Given the description of an element on the screen output the (x, y) to click on. 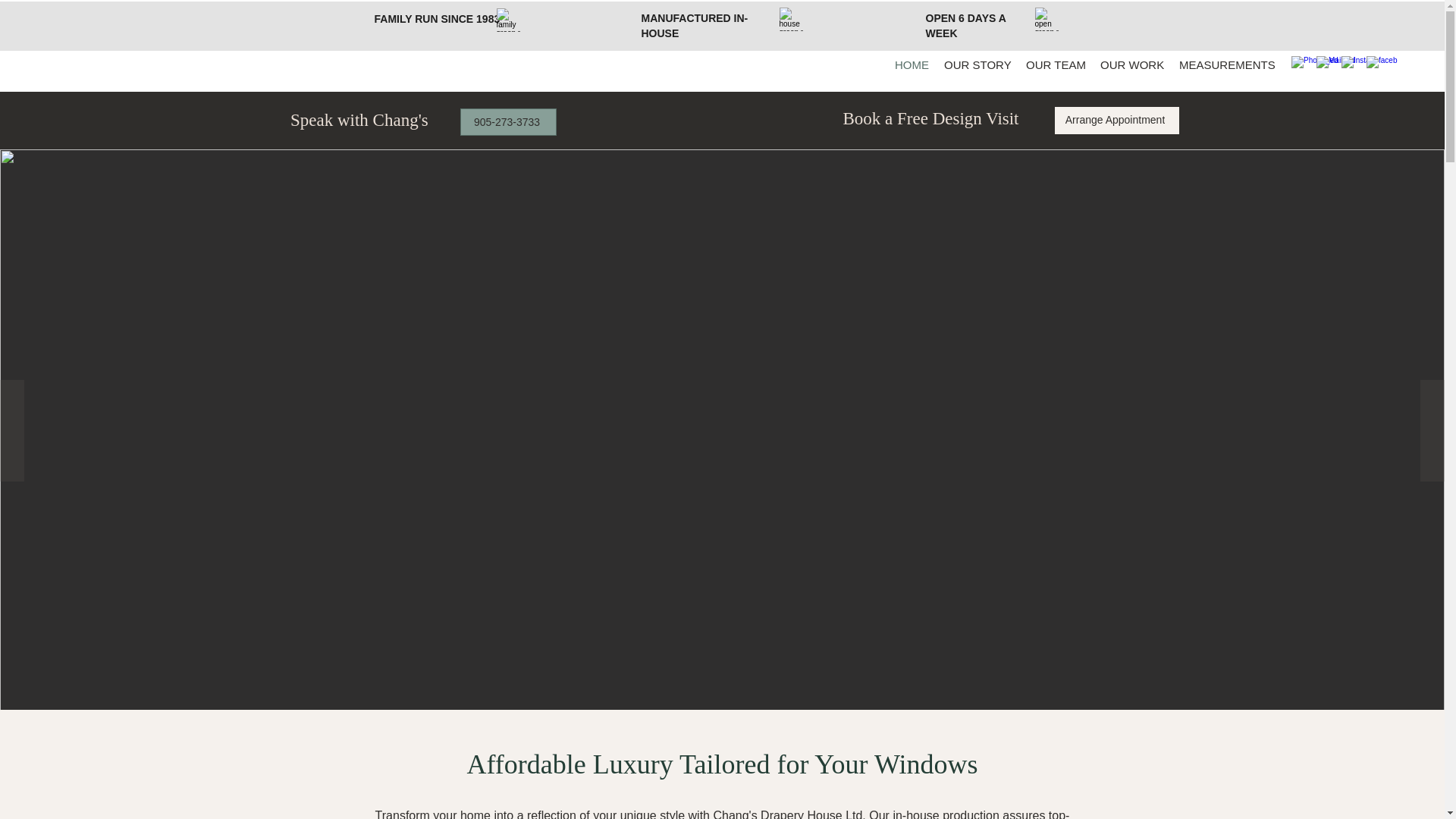
open.png (1045, 19)
OUR TEAM (1055, 64)
905-273-3733 (508, 121)
house.png (790, 19)
OUR WORK (1132, 64)
MEASUREMENTS (1225, 64)
OUR STORY (976, 64)
HOME (911, 64)
Arrange Appointment (1115, 120)
